Given the description of an element on the screen output the (x, y) to click on. 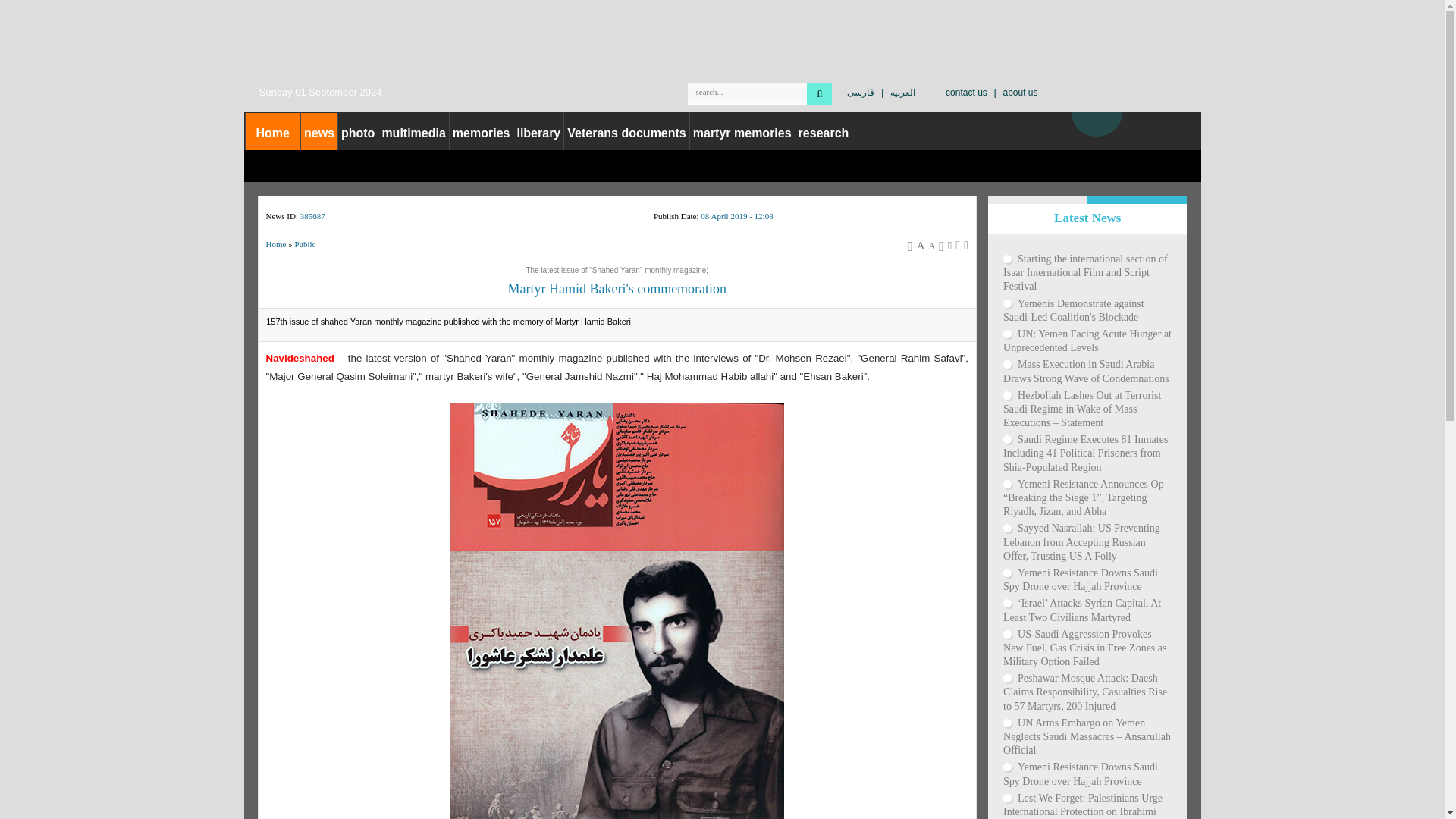
Home (272, 133)
news (319, 133)
multimedia (413, 133)
liberary (538, 133)
research (822, 133)
martyr memories (742, 133)
Veterans documents (626, 133)
photo (357, 133)
memories (481, 133)
